Given the description of an element on the screen output the (x, y) to click on. 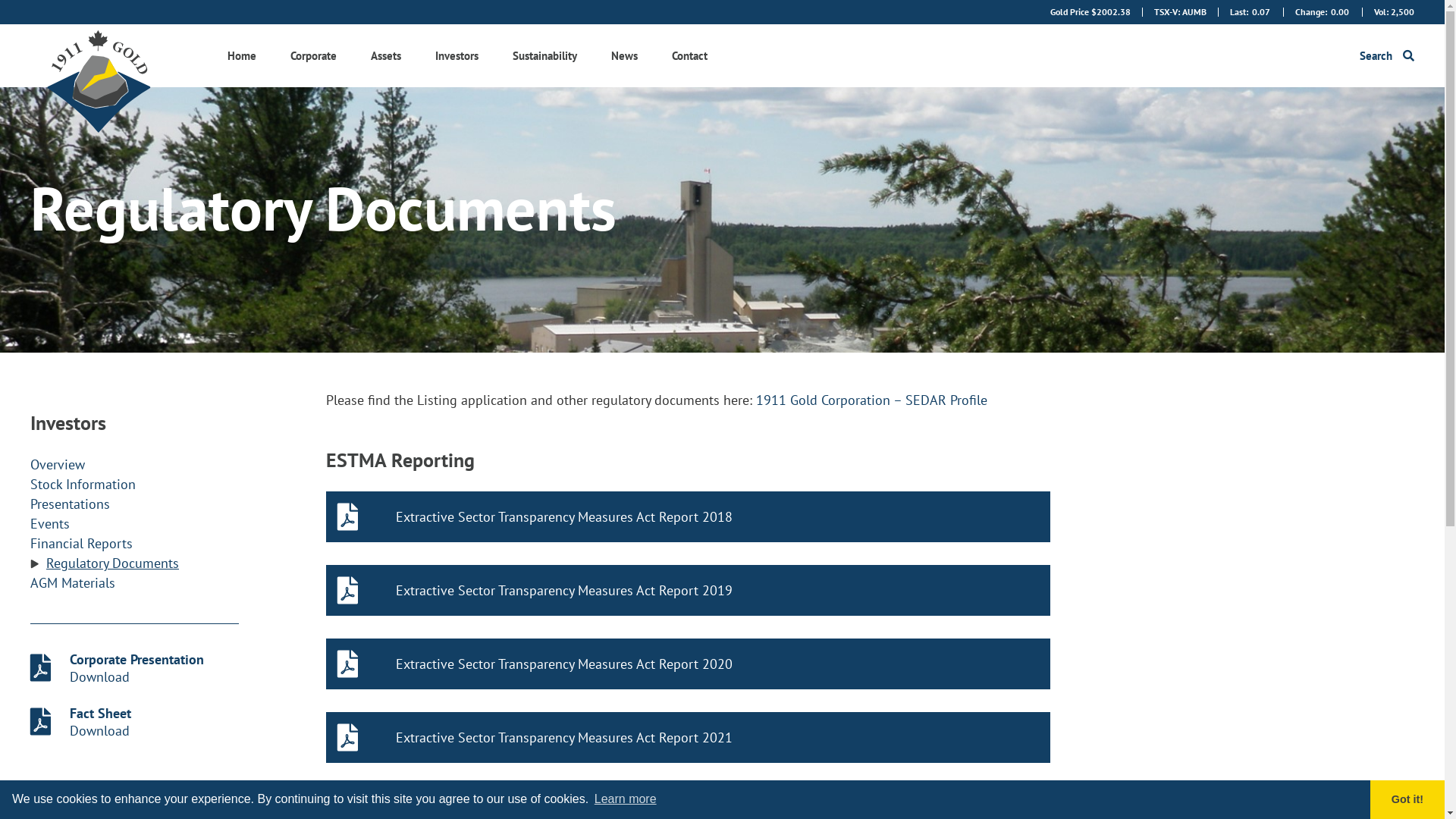
Corporate Element type: text (313, 55)
Extractive Sector Transparency Measures Act Report 2021 Element type: text (688, 737)
Contact Element type: text (689, 55)
Fact Sheet
Download Element type: text (134, 721)
Extractive Sector Transparency Measures Act Report 2020 Element type: text (688, 663)
Investors Element type: text (456, 55)
AGM Materials Element type: text (72, 583)
Stock Information Element type: text (82, 484)
Sustainability Element type: text (544, 55)
Assets Element type: text (385, 55)
Learn more Element type: text (625, 798)
Corporate Presentation
Download Element type: text (134, 667)
Extractive Sector Transparency Measures Act Report 2018 Element type: text (688, 516)
Events Element type: text (49, 523)
Search Element type: text (1386, 55)
Regulatory Documents Element type: text (112, 563)
Presentations Element type: text (69, 504)
Home Element type: text (241, 55)
Extractive Sector Transparency Measures Act Report 2019 Element type: text (688, 589)
Financial Reports Element type: text (81, 543)
News Element type: text (624, 55)
Overview Element type: text (57, 464)
